Given the description of an element on the screen output the (x, y) to click on. 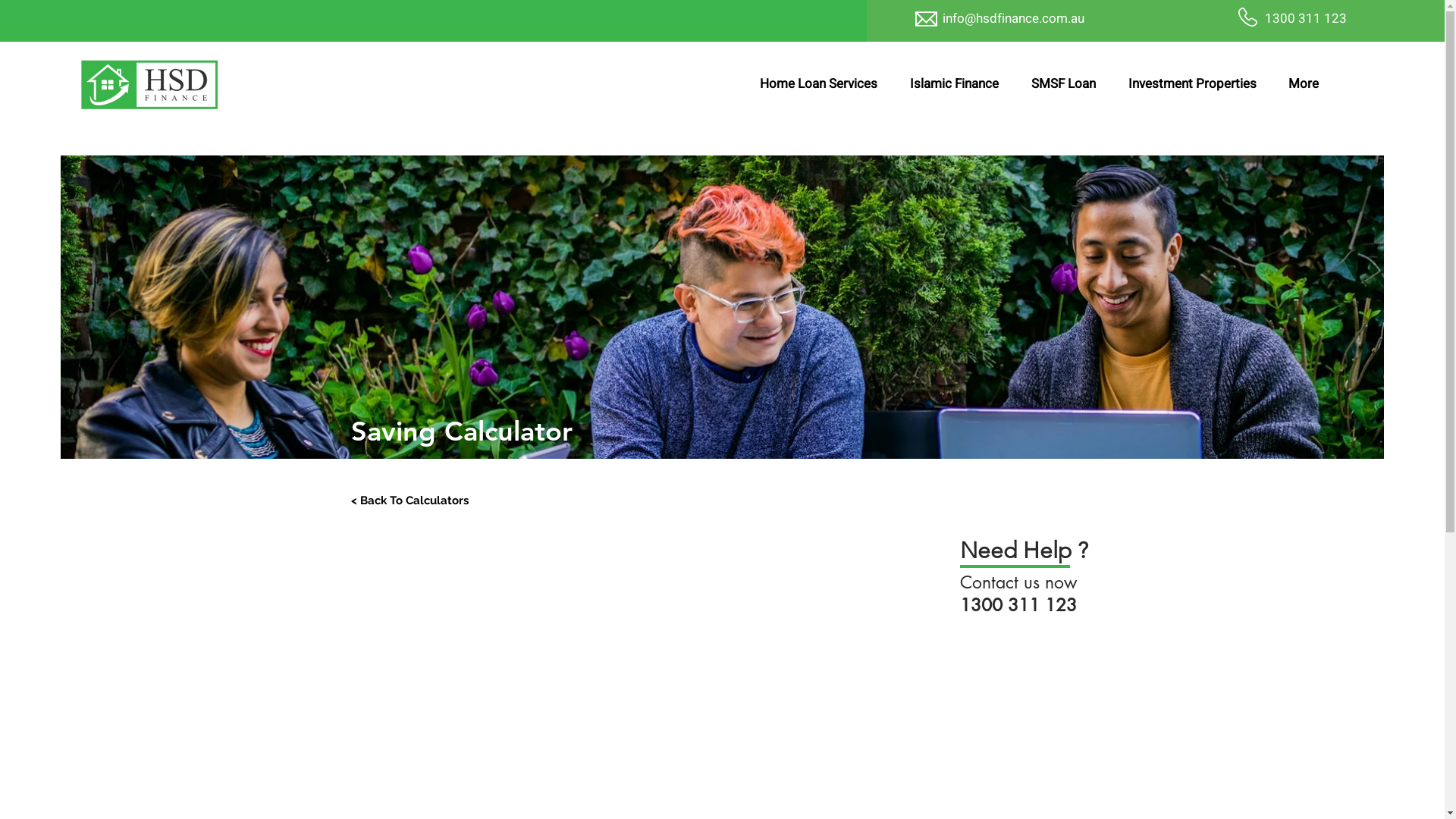
Home Loan Services Element type: text (818, 84)
< Back To Calculators Element type: text (408, 500)
SMSF Loan Element type: text (1062, 84)
info@hsdfinance.com.au Element type: text (1012, 18)
Islamic Finance Element type: text (953, 84)
Investment Properties Element type: text (1191, 84)
